Given the description of an element on the screen output the (x, y) to click on. 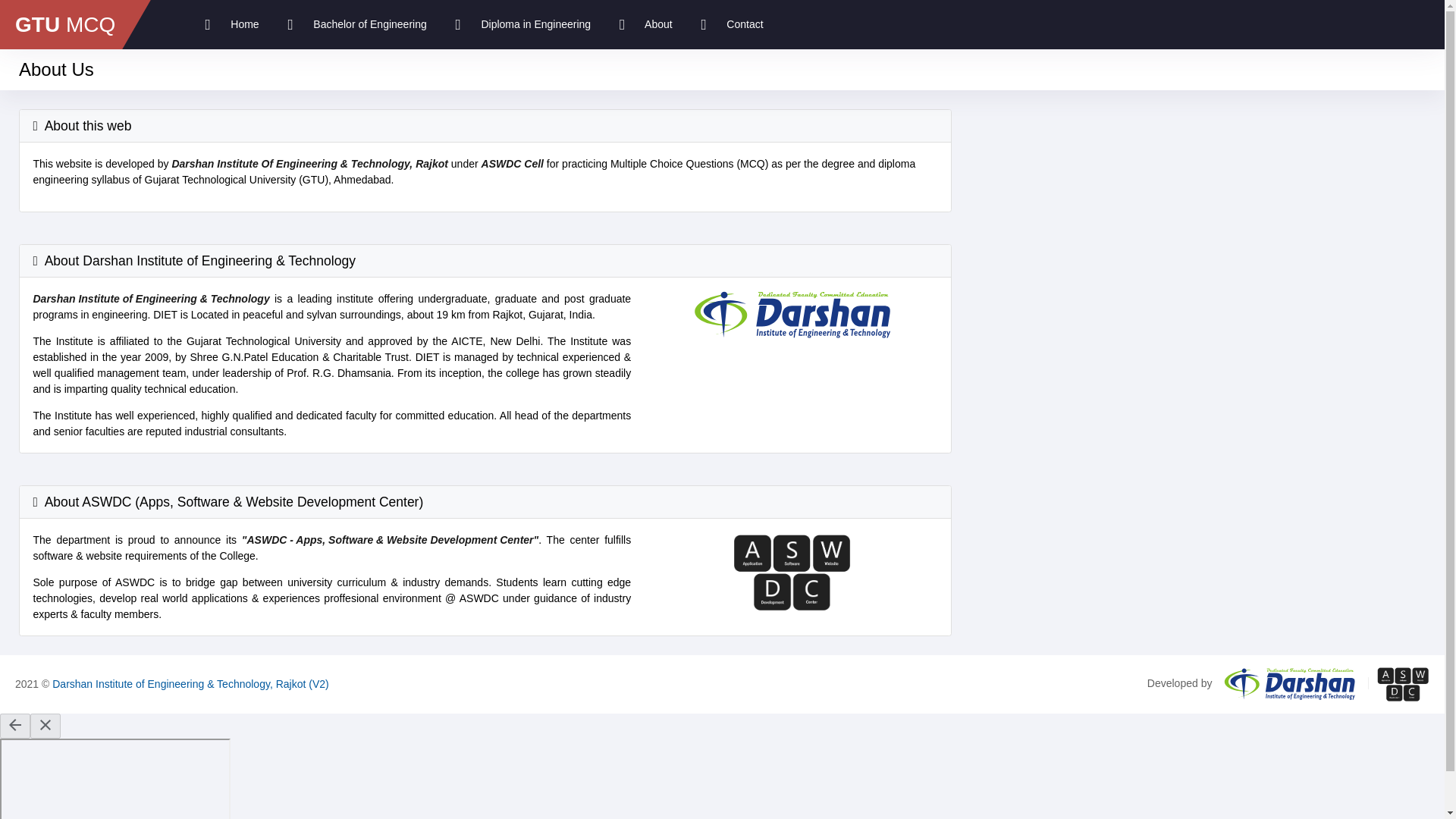
 Home (231, 24)
 Bachelor of Engineering (357, 24)
 Diploma in Engineering (523, 24)
GTU MCQ (68, 24)
Bachelor of Engineering (356, 24)
GTU MCQ - Solutions (68, 24)
GTU MCQ Bachelor of Engineering,Diploma Engineering (232, 24)
